Given the description of an element on the screen output the (x, y) to click on. 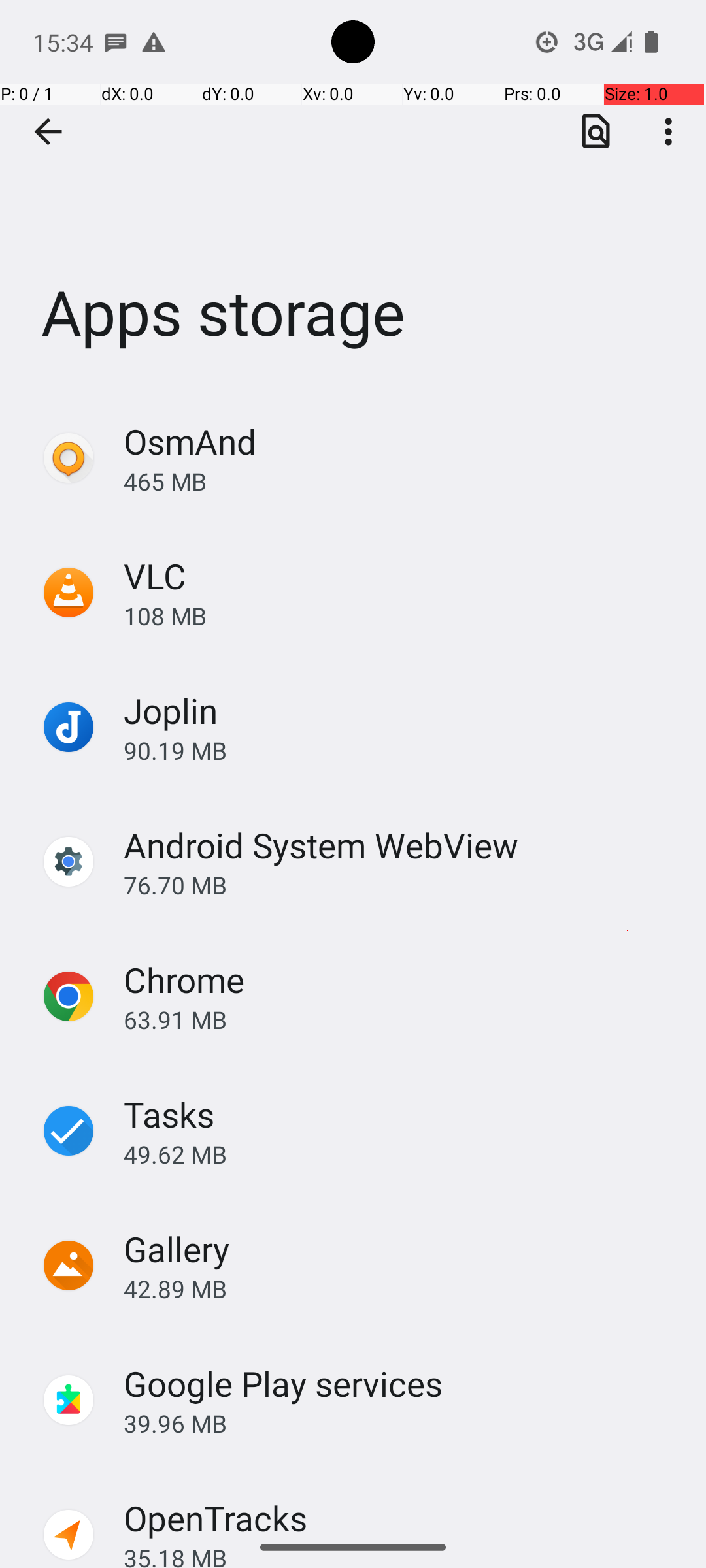
Apps storage Element type: android.widget.FrameLayout (353, 195)
OsmAnd Element type: android.widget.TextView (189, 441)
465 MB Element type: android.widget.TextView (400, 480)
108 MB Element type: android.widget.TextView (400, 615)
90.19 MB Element type: android.widget.TextView (400, 750)
Android System WebView Element type: android.widget.TextView (320, 844)
76.70 MB Element type: android.widget.TextView (400, 884)
63.91 MB Element type: android.widget.TextView (400, 1019)
49.62 MB Element type: android.widget.TextView (400, 1153)
42.89 MB Element type: android.widget.TextView (400, 1288)
Google Play services Element type: android.widget.TextView (283, 1383)
39.96 MB Element type: android.widget.TextView (400, 1422)
